Given the description of an element on the screen output the (x, y) to click on. 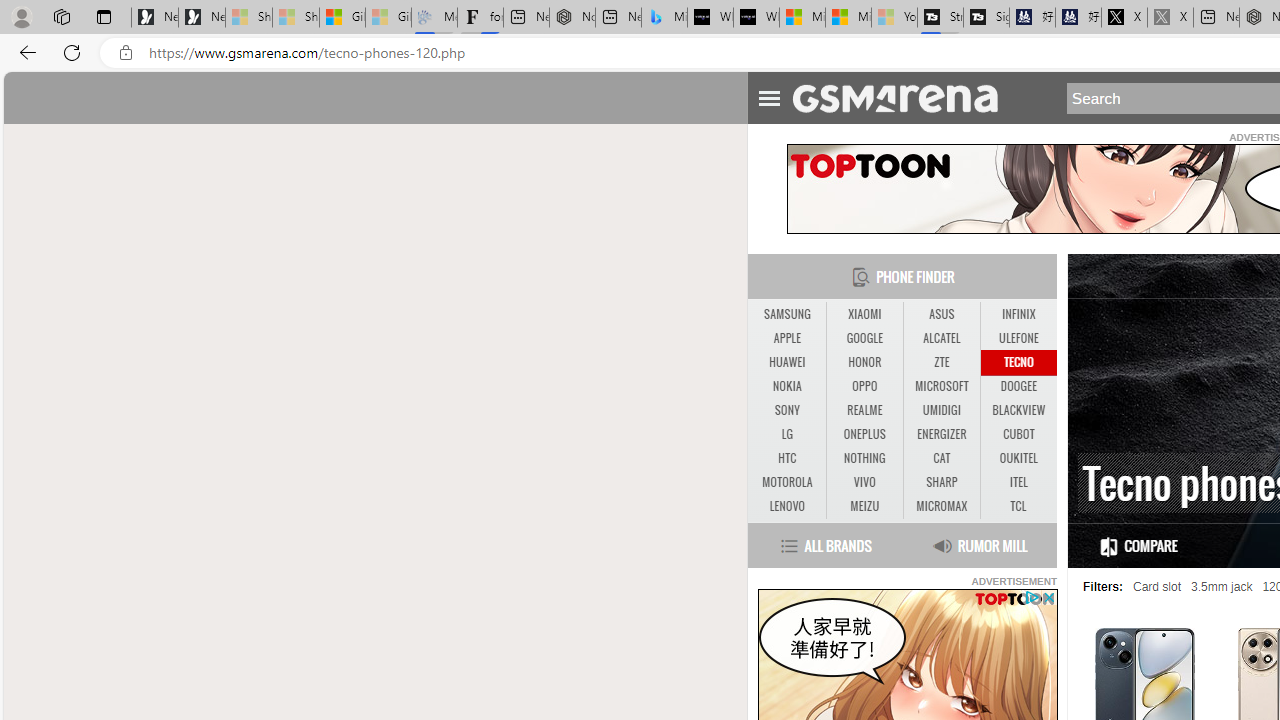
ENERGIZER (941, 434)
ASUS (941, 313)
HUAWEI (786, 362)
Card slot (1156, 587)
SHARP (941, 482)
DOOGEE (1018, 385)
ULEFONE (1018, 339)
New tab (1216, 17)
UMIDIGI (941, 411)
Back (24, 52)
3.5mm jack (1222, 587)
HTC (786, 457)
